Given the description of an element on the screen output the (x, y) to click on. 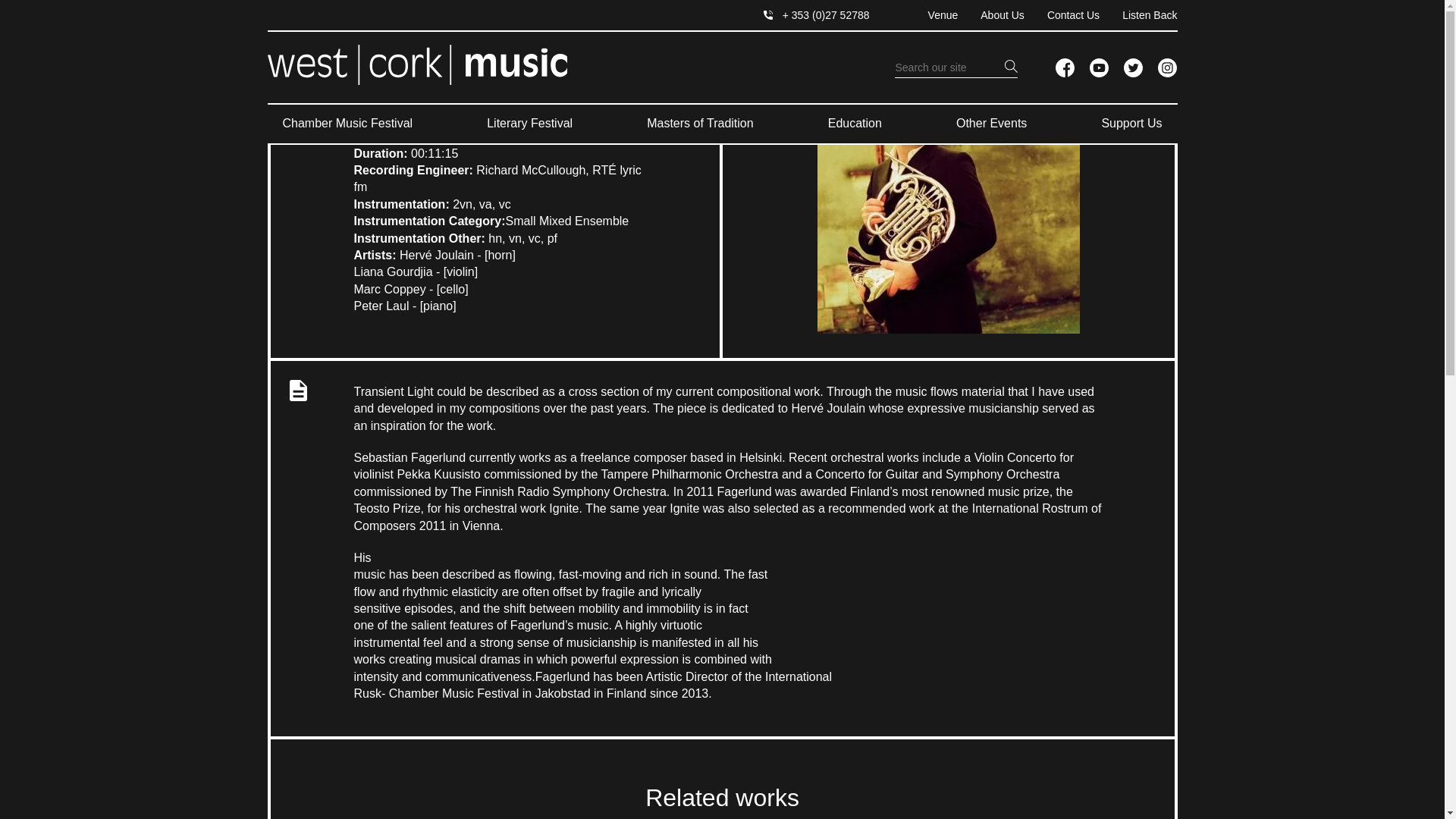
YouTube (1098, 67)
Facebook (1064, 67)
West Cork Music (416, 67)
Instagram (1166, 67)
Literary Festival (529, 123)
Venue (931, 15)
Phone number (815, 15)
Contact Us (1062, 15)
West Cork Music (416, 65)
